Given the description of an element on the screen output the (x, y) to click on. 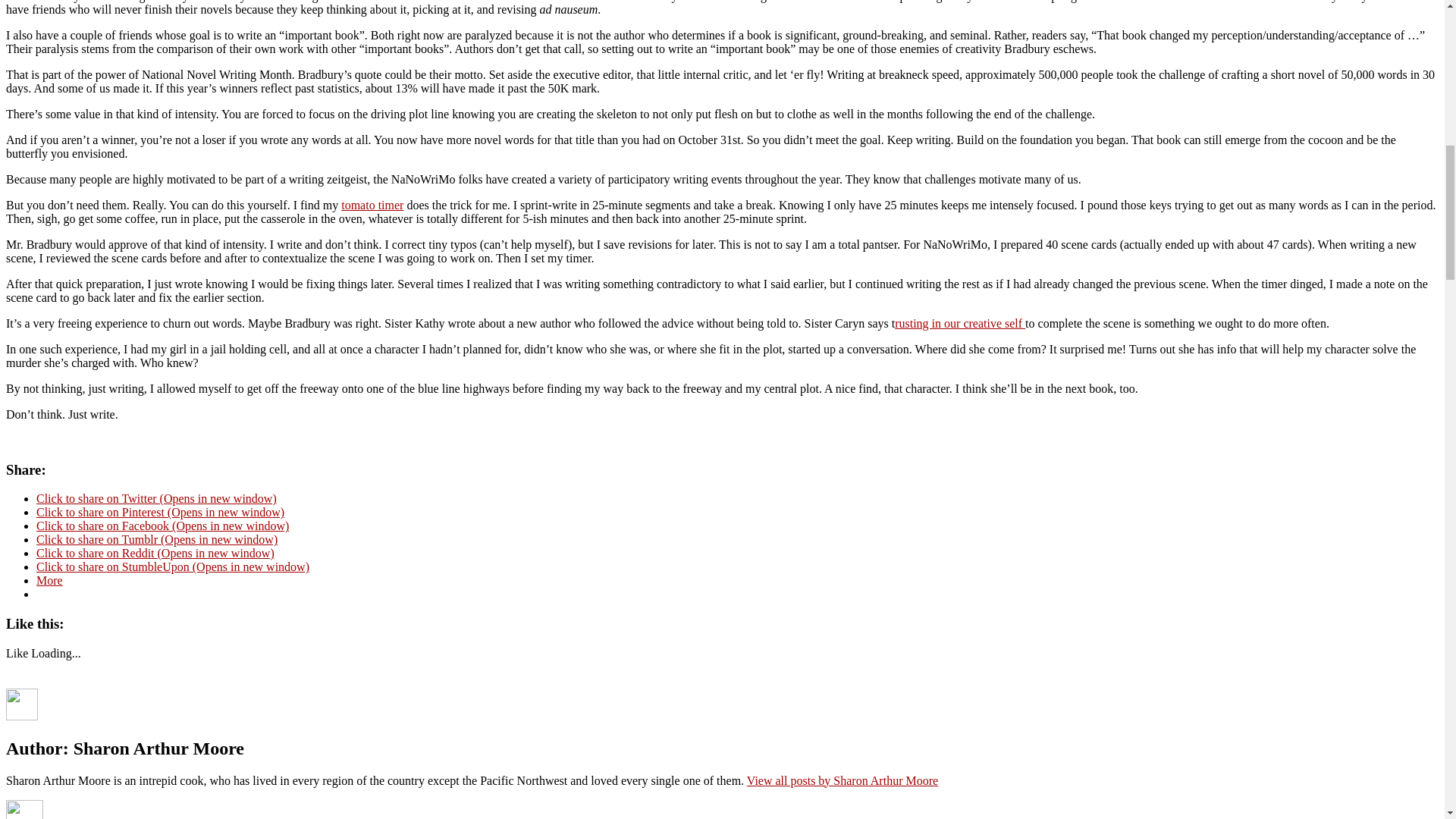
Click to share on Twitter (156, 498)
Click to share on Facebook (162, 525)
Click to share on Pinterest (159, 512)
Click to share on Reddit (155, 553)
Click to share on StumbleUpon (172, 566)
Click to share on Tumblr (157, 539)
tomato timer (371, 205)
rusting in our creative self (960, 323)
